Given the description of an element on the screen output the (x, y) to click on. 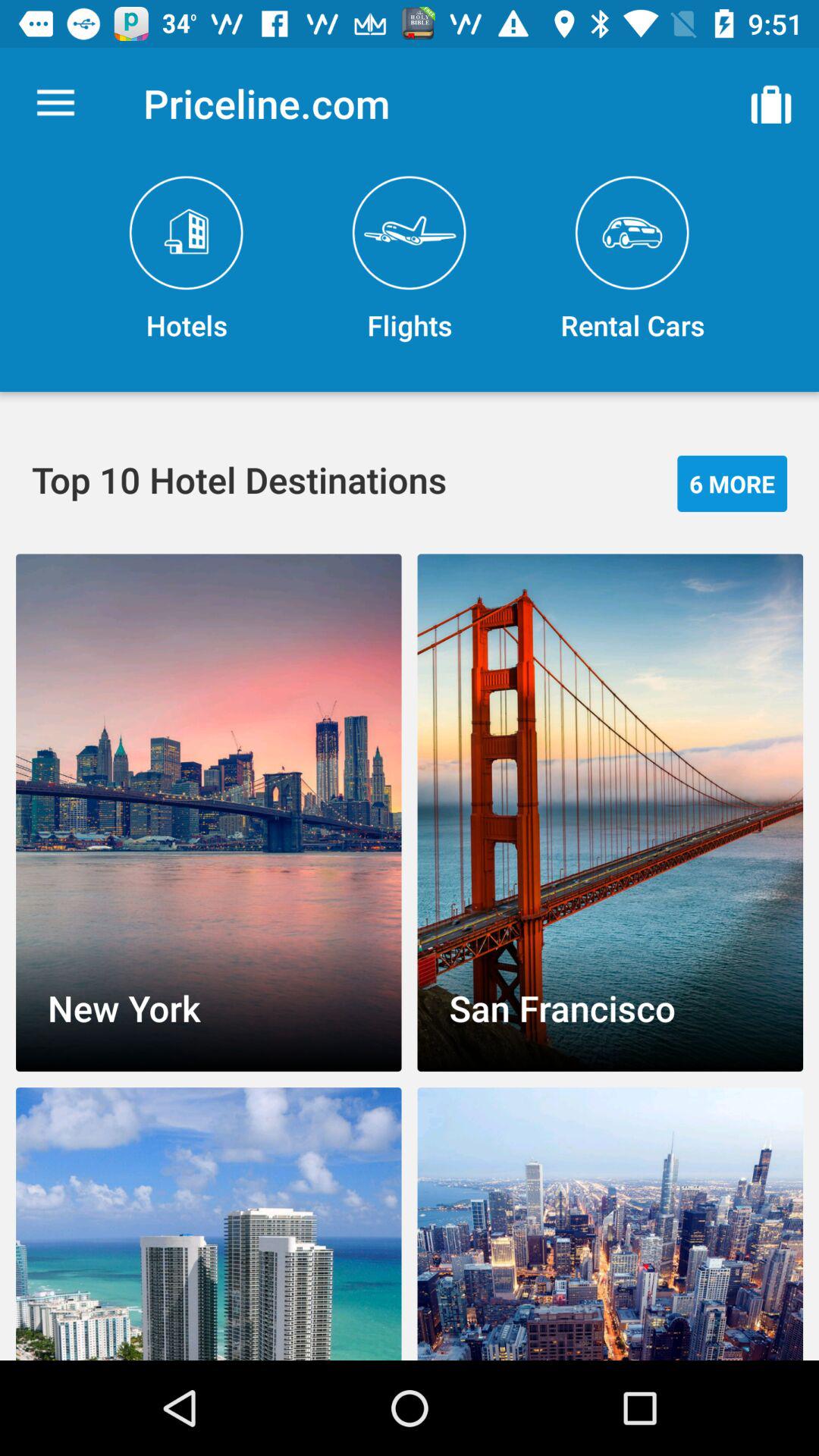
tap the 6 more item (732, 483)
